Given the description of an element on the screen output the (x, y) to click on. 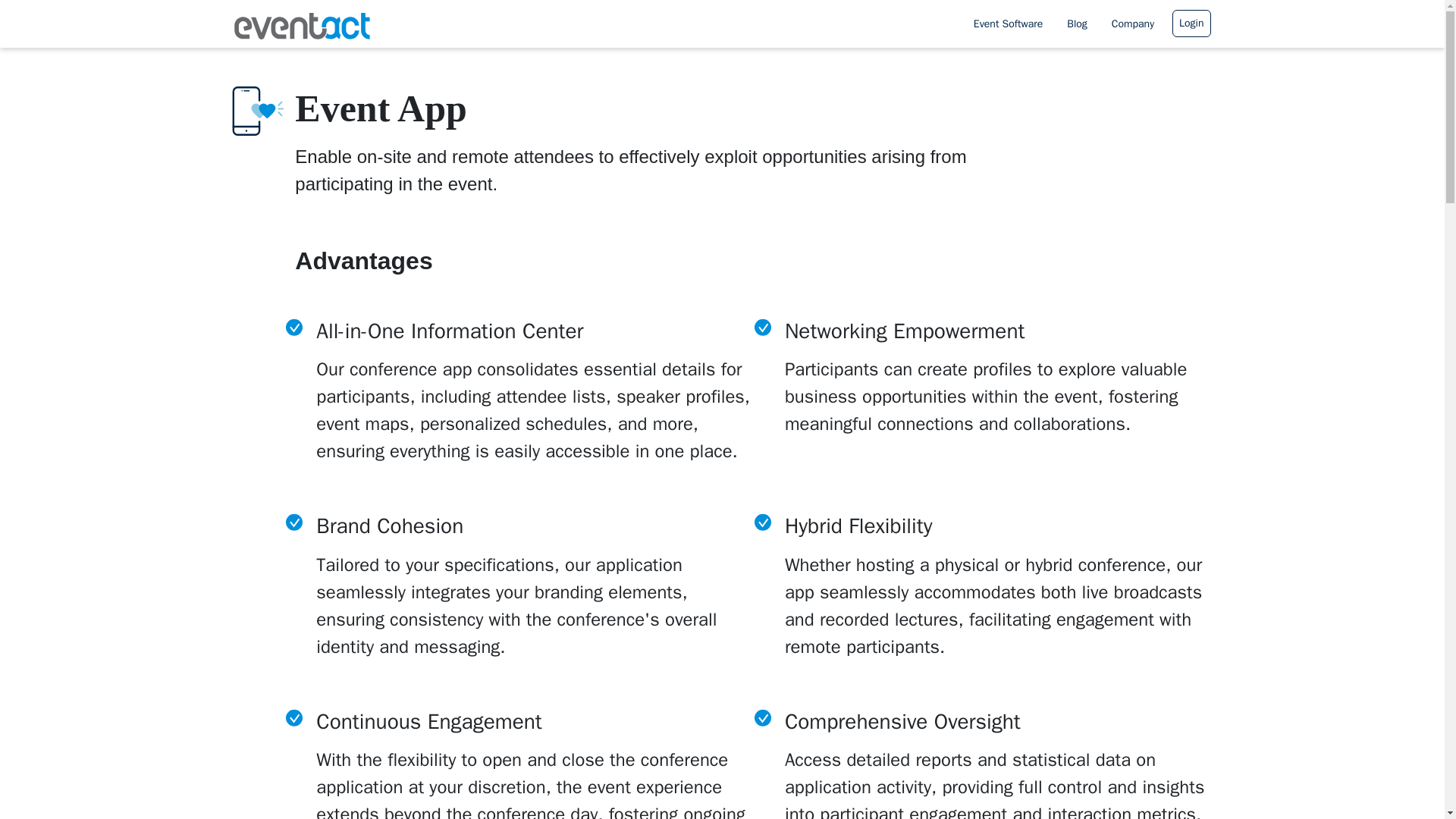
eventact (295, 23)
Event Software (1008, 23)
Blog (1077, 23)
Company (1132, 23)
Eventact login (1190, 22)
Login (1190, 22)
